Given the description of an element on the screen output the (x, y) to click on. 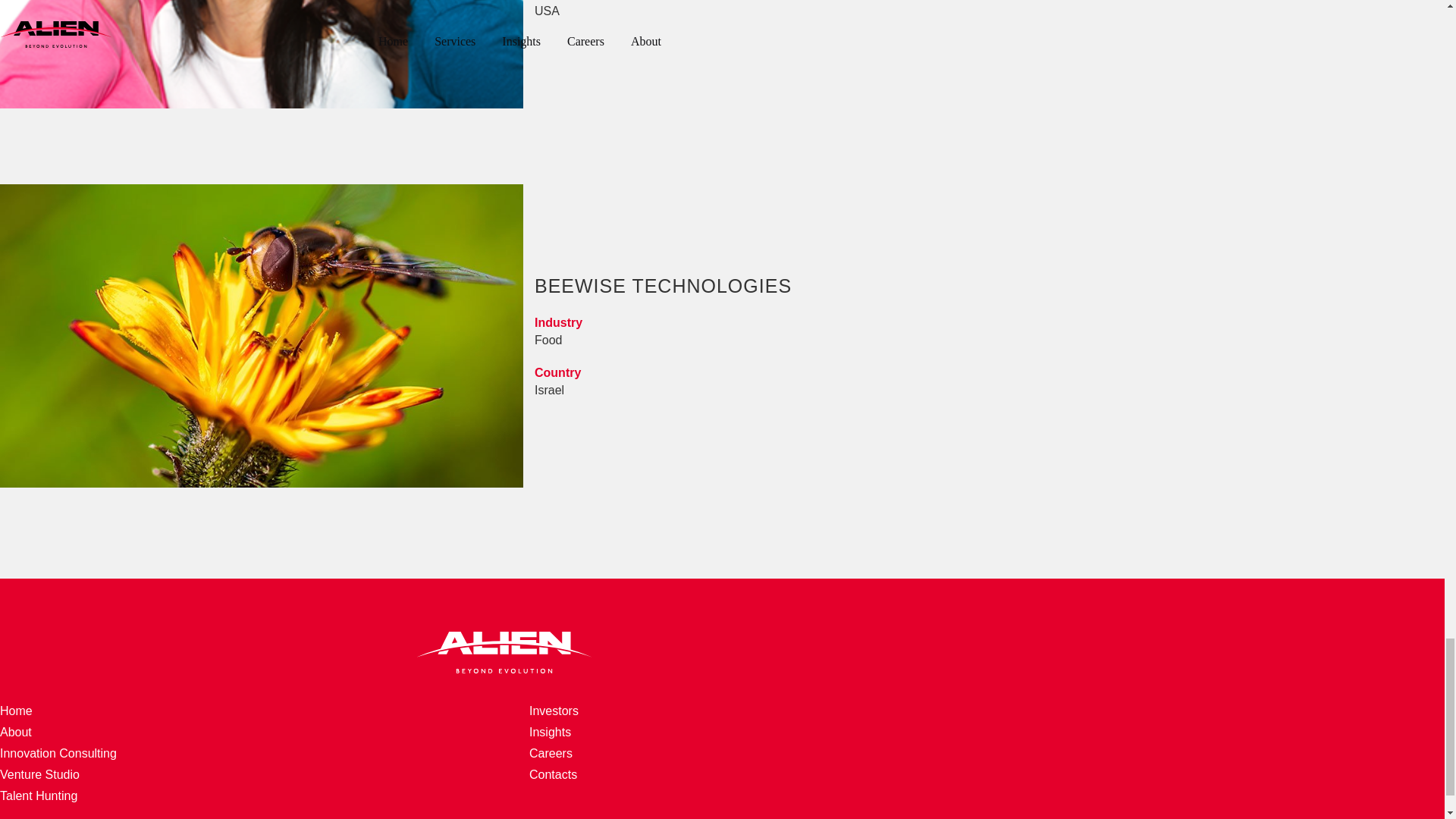
Insights (16, 710)
Careers (549, 731)
Talent Hunting (523, 54)
Contacts (550, 753)
About (38, 795)
Investors (552, 774)
Innovation Consulting (16, 731)
Venture Studio (553, 710)
